Given the description of an element on the screen output the (x, y) to click on. 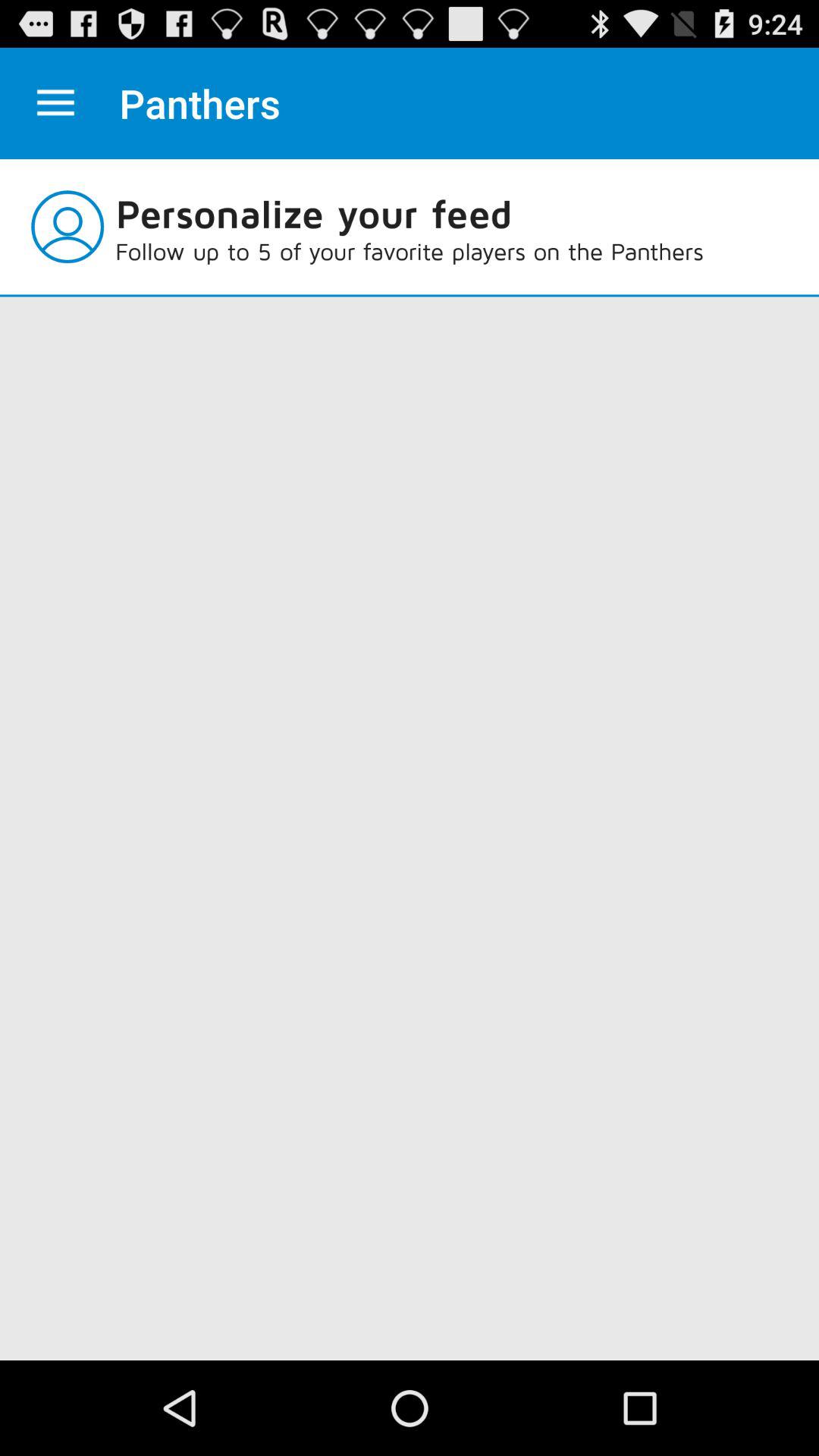
open menu (55, 103)
